Given the description of an element on the screen output the (x, y) to click on. 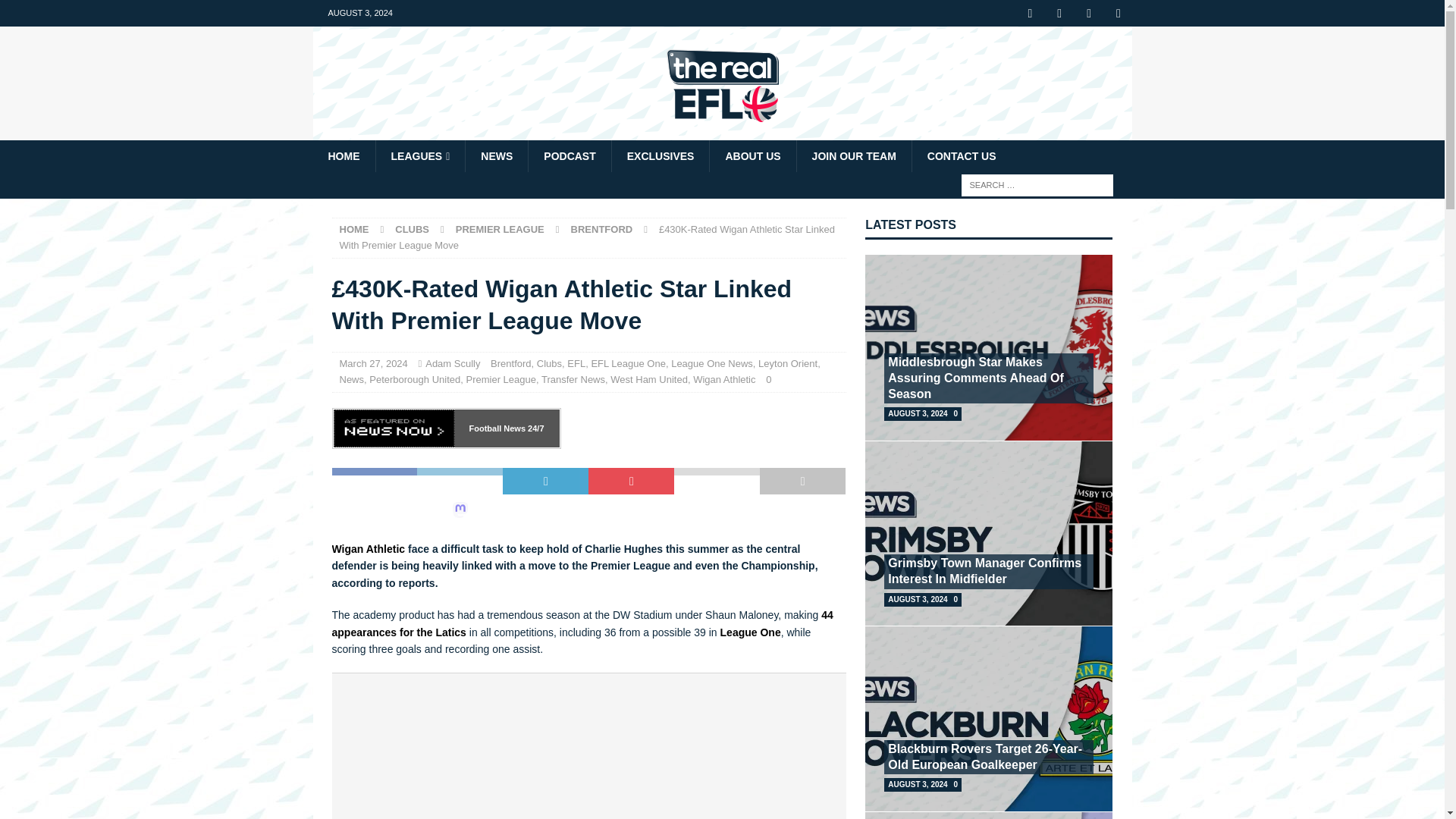
Search (56, 11)
Home (354, 229)
LEAGUES (419, 155)
CONTACT US (961, 155)
Brentford (601, 229)
CLUBS (411, 229)
EXCLUSIVES (660, 155)
HOME (354, 229)
Adam Scully (452, 363)
Leyton Orient (787, 363)
Click here for more Football news from NewsNow (496, 428)
News (352, 378)
PODCAST (568, 155)
Clubs (549, 363)
League One News (711, 363)
